Given the description of an element on the screen output the (x, y) to click on. 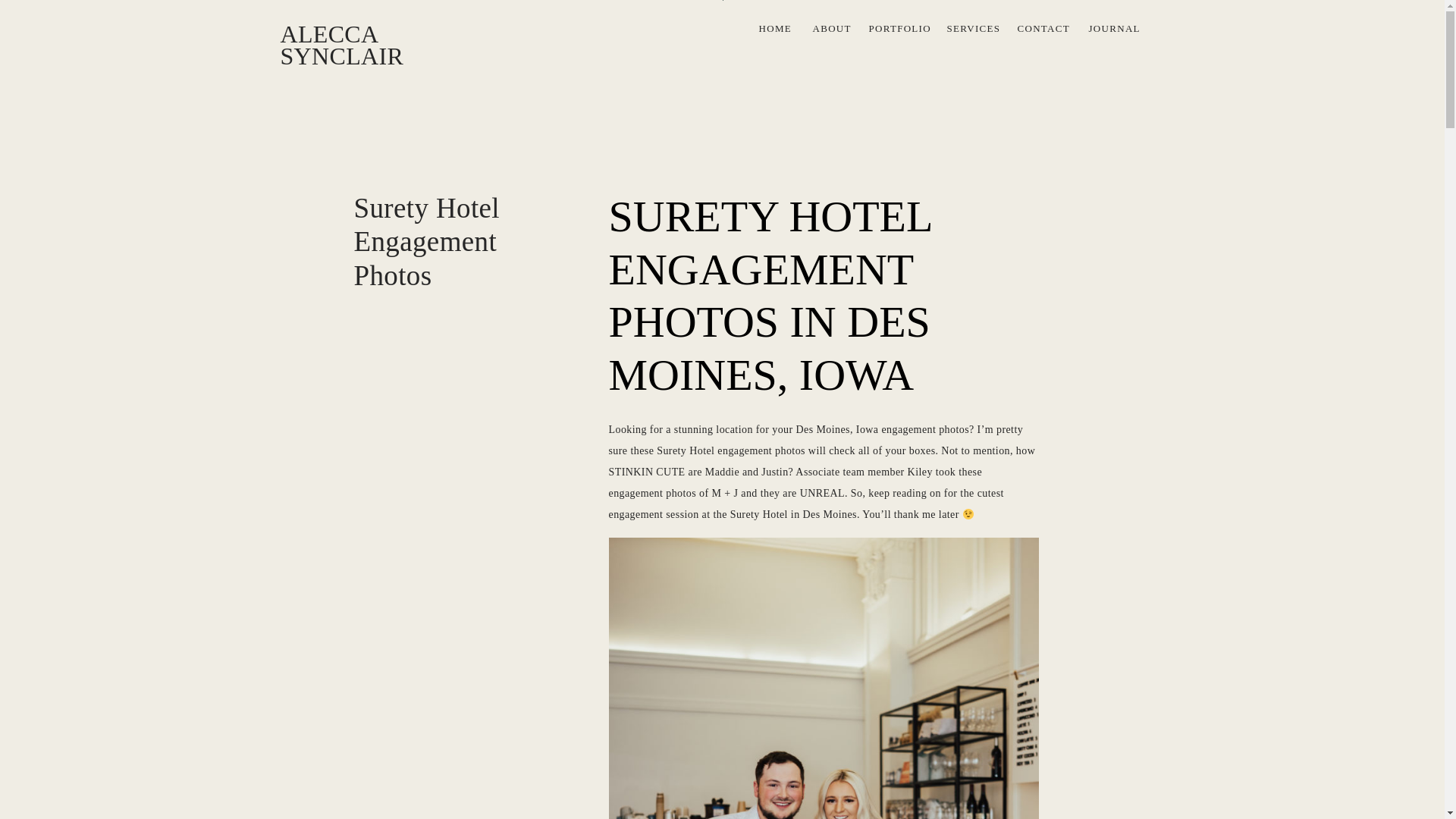
CONTACT (1041, 29)
JOURNAL (1112, 29)
HOME (773, 29)
SERVICES (970, 29)
PORTFOLIO (896, 29)
ABOUT (829, 29)
